Given the description of an element on the screen output the (x, y) to click on. 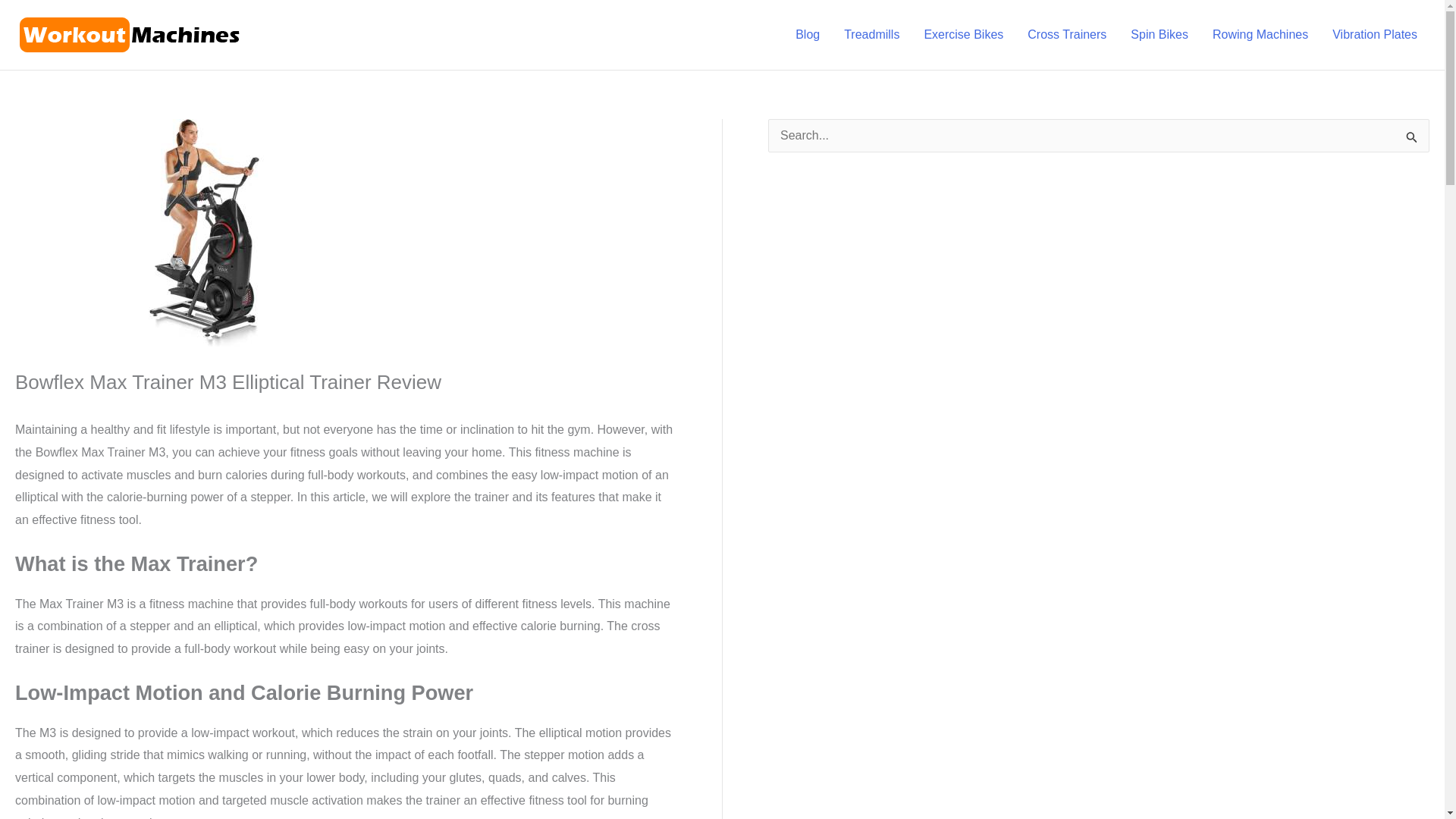
Exercise Bikes (962, 34)
Treadmills (871, 34)
Spin Bikes (1158, 34)
Rowing Machines (1259, 34)
Vibration Plates (1374, 34)
Cross Trainers (1066, 34)
